Given the description of an element on the screen output the (x, y) to click on. 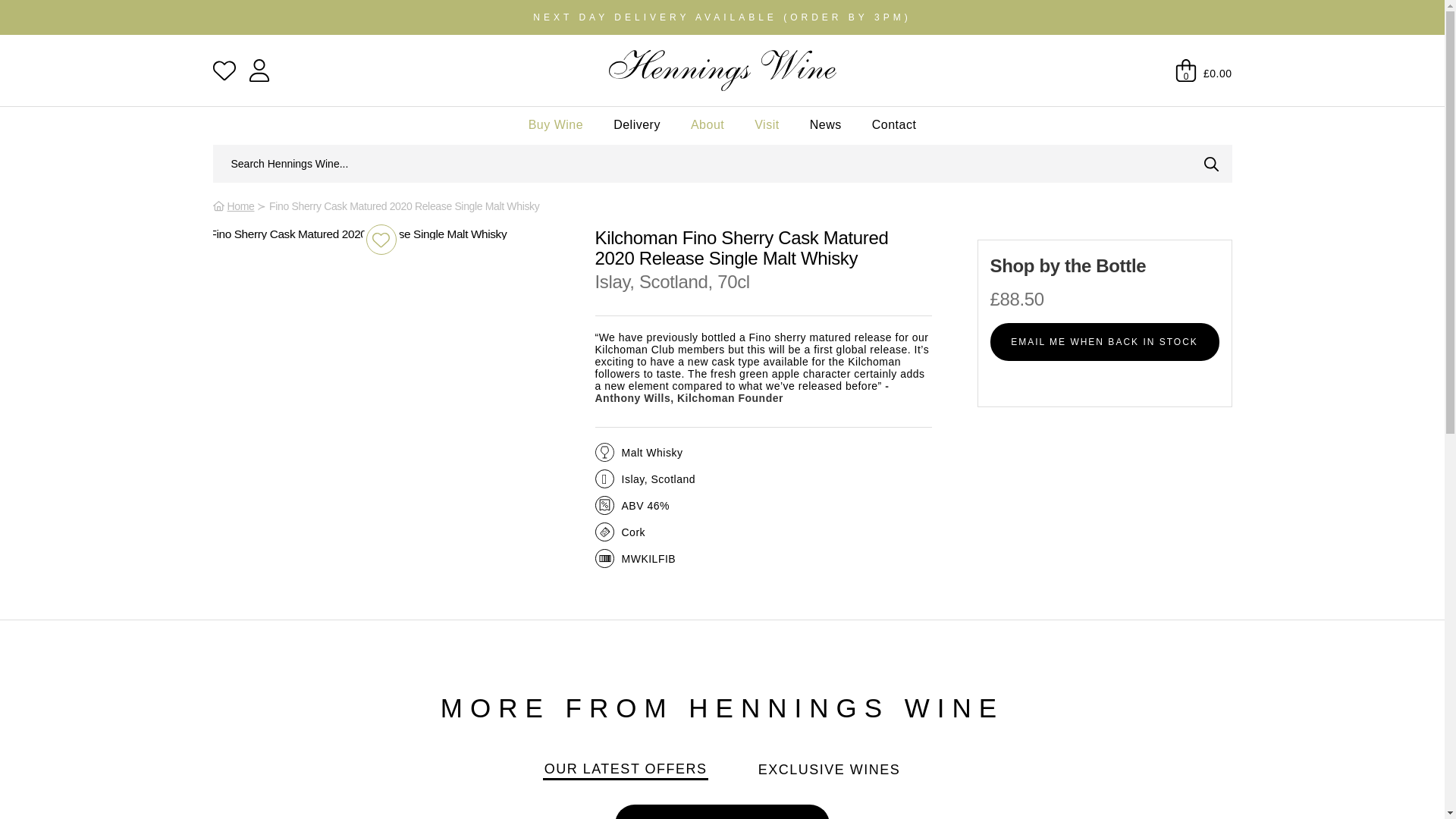
Email me when back in stock (1105, 341)
Search (1211, 163)
Search (701, 163)
Buy Wine (555, 124)
